Given the description of an element on the screen output the (x, y) to click on. 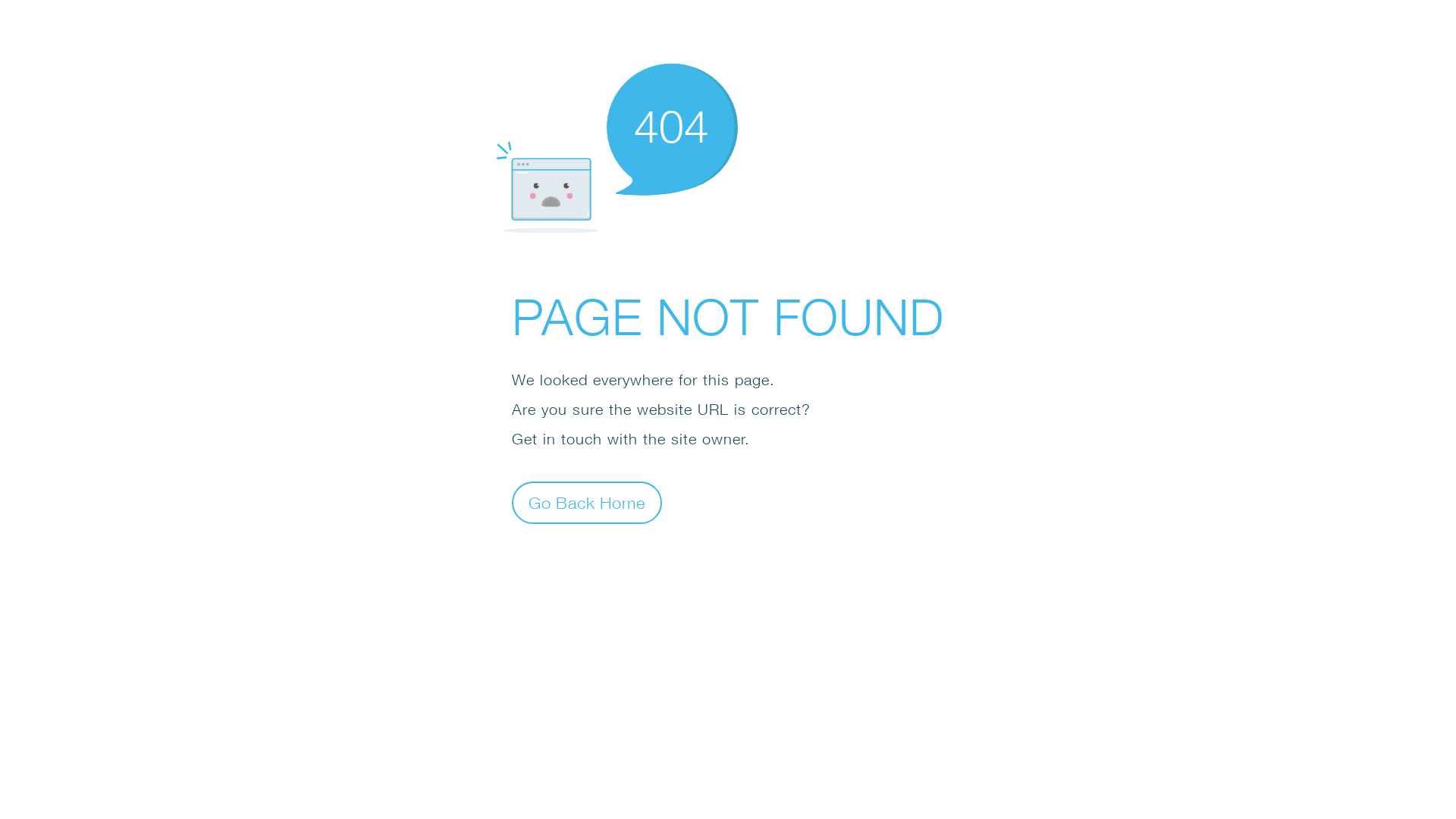
Go Back Home Element type: text (586, 502)
